Given the description of an element on the screen output the (x, y) to click on. 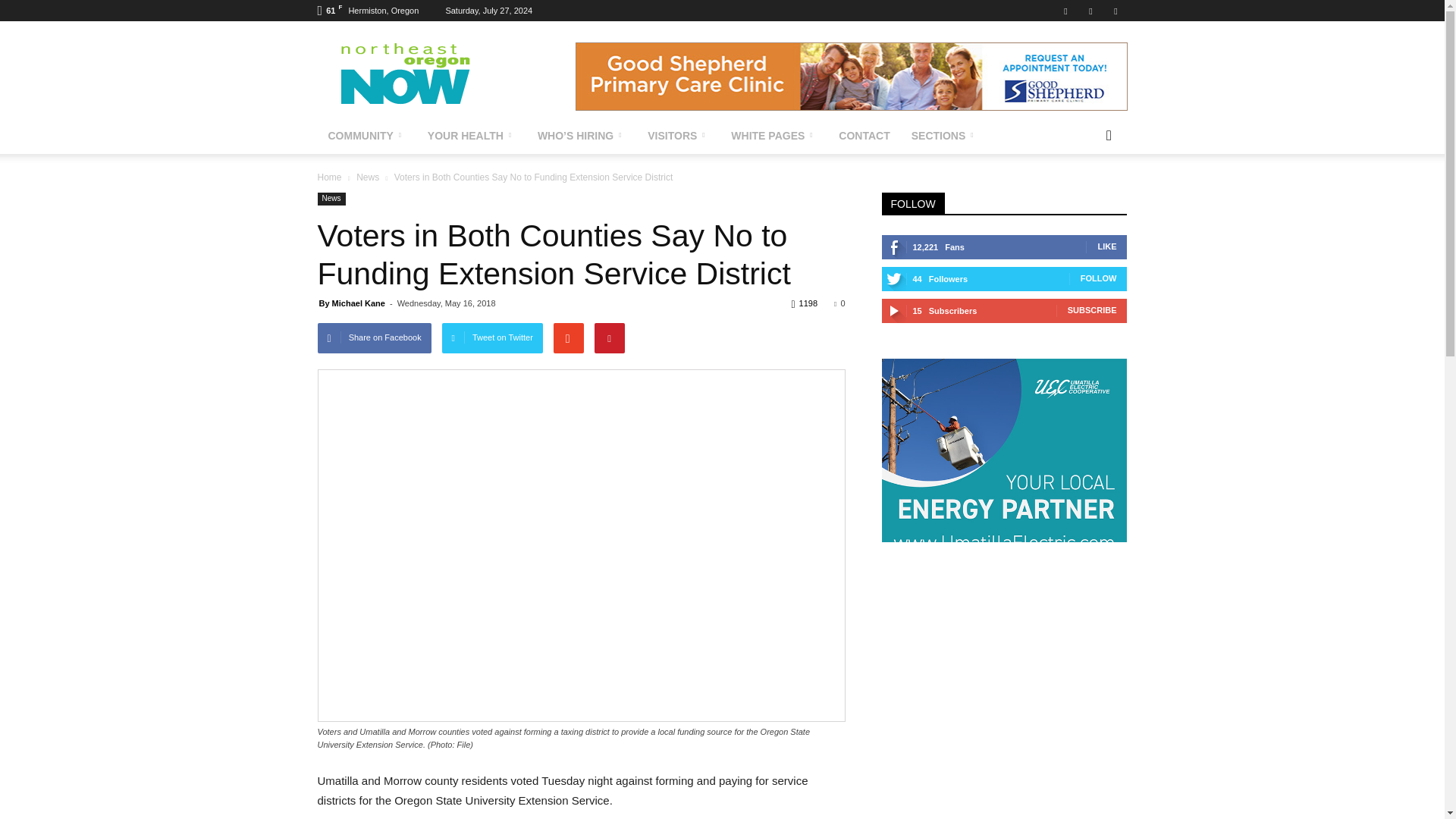
Northeast Oregon Now Home (445, 76)
Twitter (1090, 10)
Facebook (1065, 10)
Youtube (1114, 10)
